Given the description of an element on the screen output the (x, y) to click on. 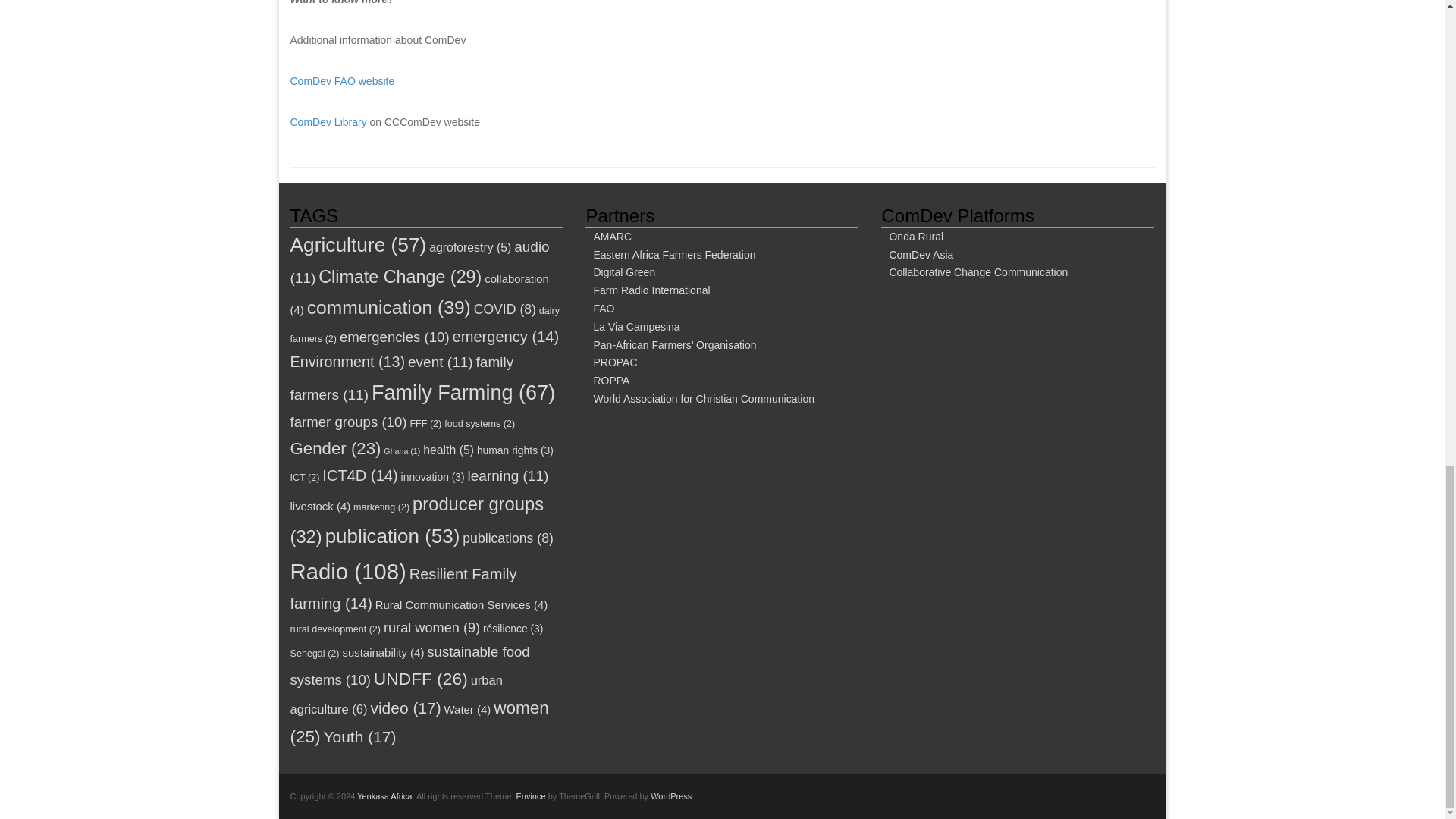
ComDev Library (327, 121)
ComDev FAO website (341, 80)
